Given the description of an element on the screen output the (x, y) to click on. 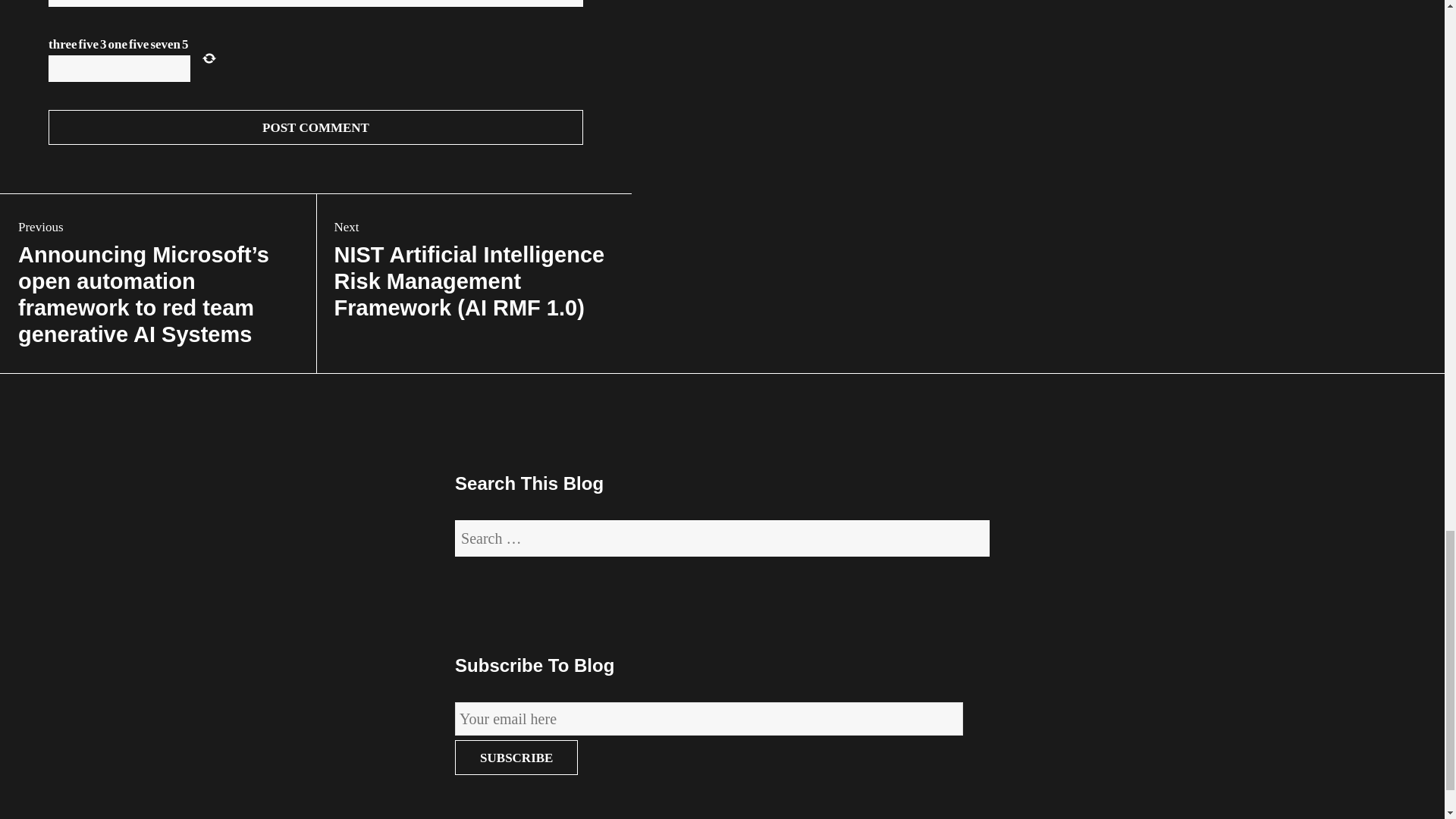
Post Comment (315, 126)
Post Comment (315, 126)
Your email here (708, 718)
Your email here (708, 718)
